Given the description of an element on the screen output the (x, y) to click on. 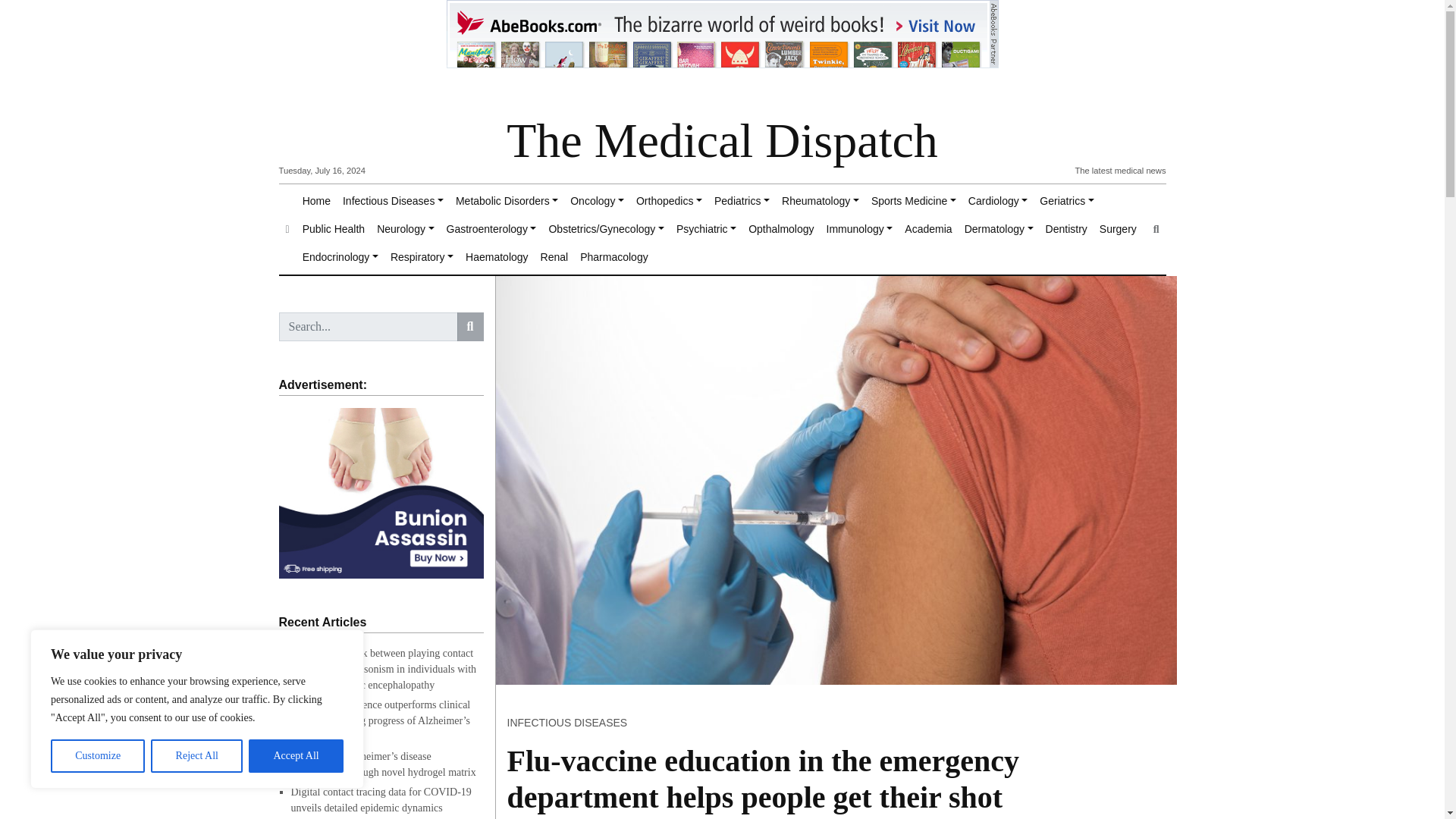
The Medical Dispatch (721, 140)
Home (316, 201)
Metabolic Disorders (506, 201)
Customize (97, 756)
Reject All (197, 756)
Infectious Diseases (392, 201)
Orthopedics (668, 201)
Home (316, 201)
Metabolic Disorders (506, 201)
Accept All (295, 756)
Infectious Diseases (392, 201)
Pediatrics (741, 201)
Oncology (597, 201)
Orthopedics (668, 201)
Oncology (597, 201)
